Given the description of an element on the screen output the (x, y) to click on. 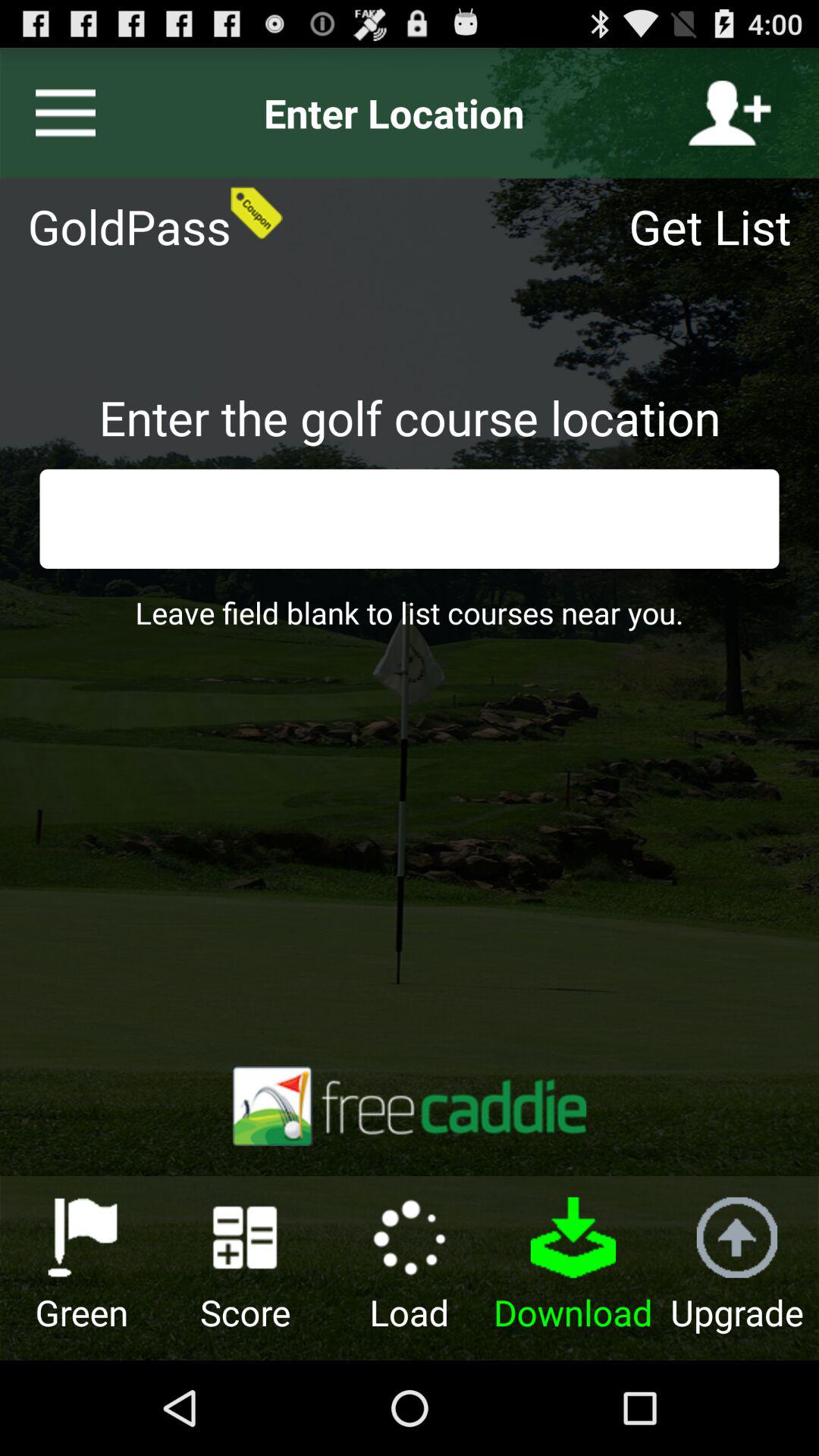
enter your location (729, 112)
